Given the description of an element on the screen output the (x, y) to click on. 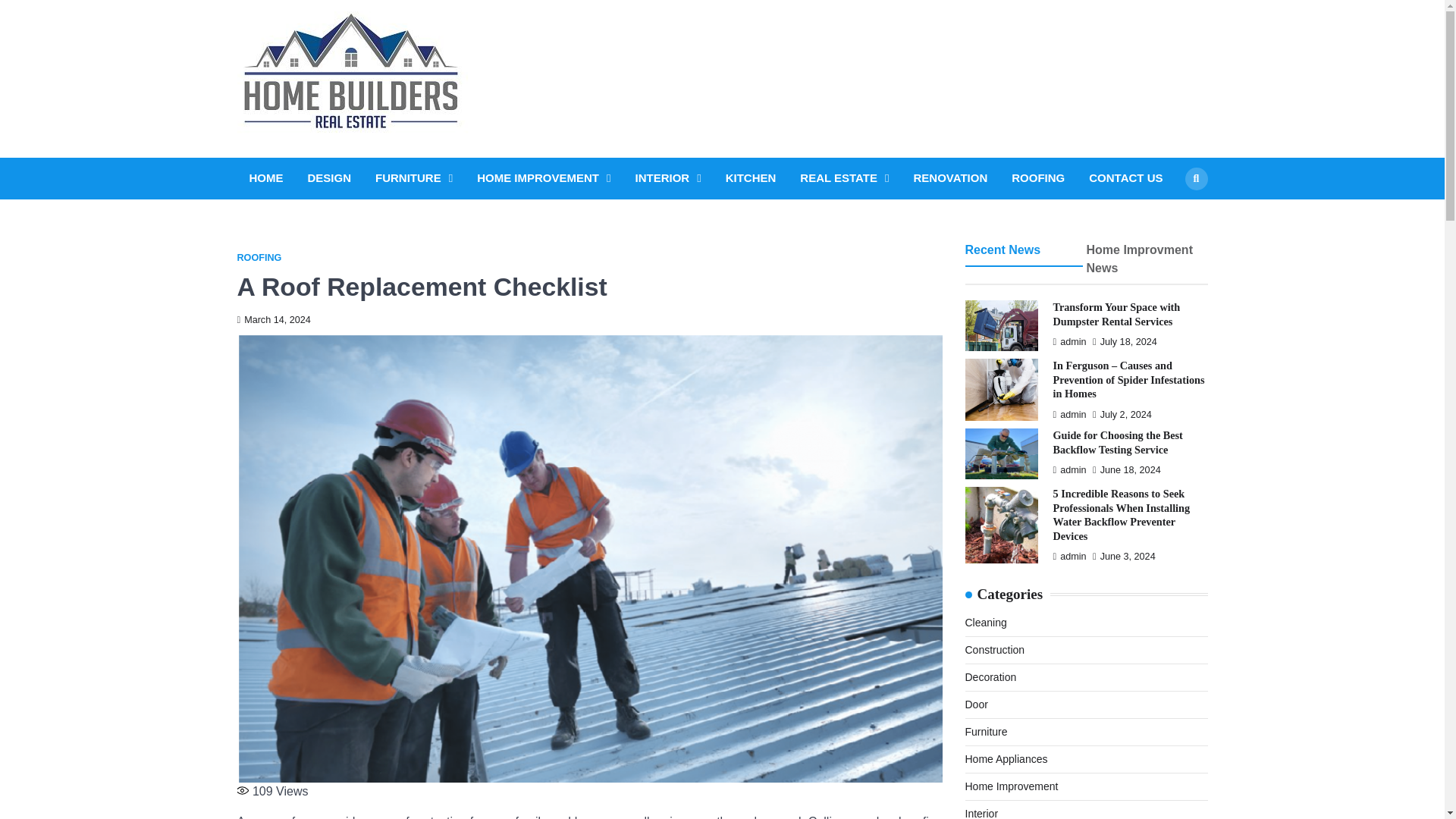
March 14, 2024 (272, 319)
RENOVATION (949, 178)
Search (1168, 213)
DESIGN (329, 178)
ROOFING (1038, 178)
KITCHEN (751, 178)
REAL ESTATE (844, 178)
ROOFING (258, 257)
Search (1196, 178)
HOME IMPROVEMENT (542, 178)
FURNITURE (413, 178)
blog (508, 94)
HOME (265, 178)
INTERIOR (667, 178)
CONTACT US (1126, 178)
